Given the description of an element on the screen output the (x, y) to click on. 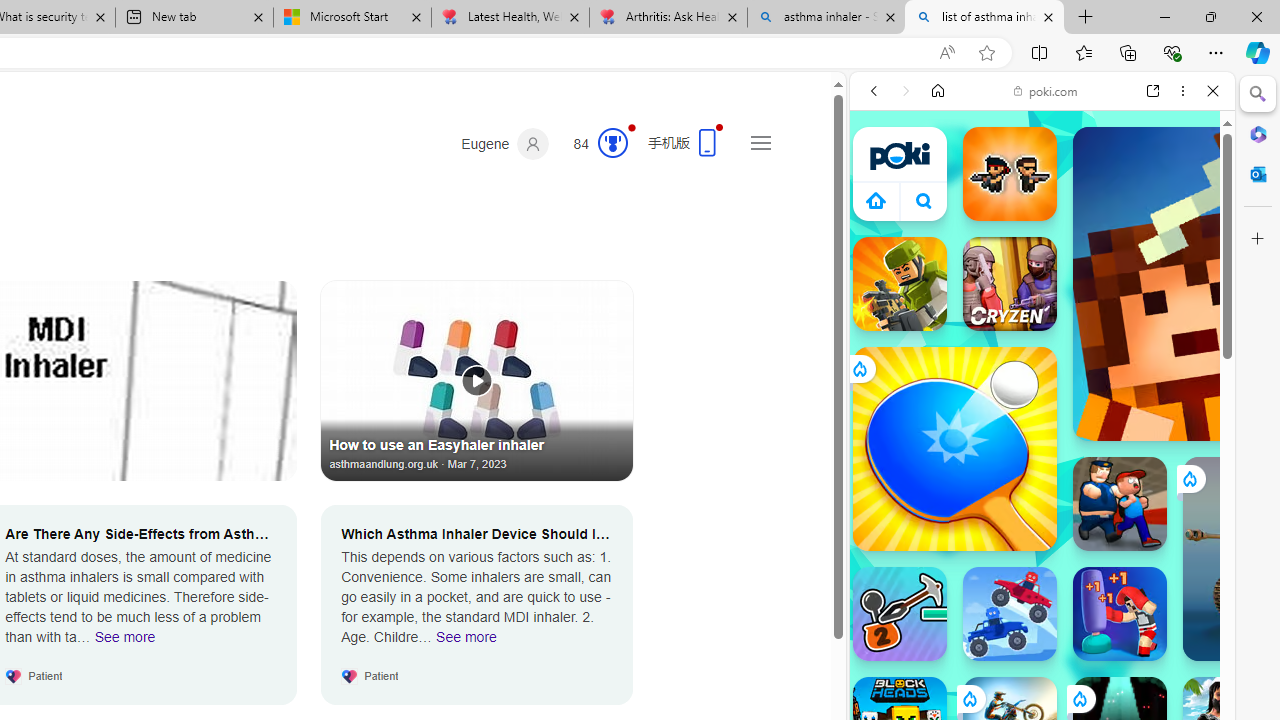
Search Filter, VIDEOS (1006, 228)
AutomationID: rh_meter (612, 142)
poki.com (1046, 90)
Sports Games (1042, 665)
Escape From School Escape From School (1119, 503)
Stickman Climb 2 Stickman Climb 2 (899, 613)
SEARCH TOOLS (1093, 228)
Cryzen.io (1009, 283)
